Given the description of an element on the screen output the (x, y) to click on. 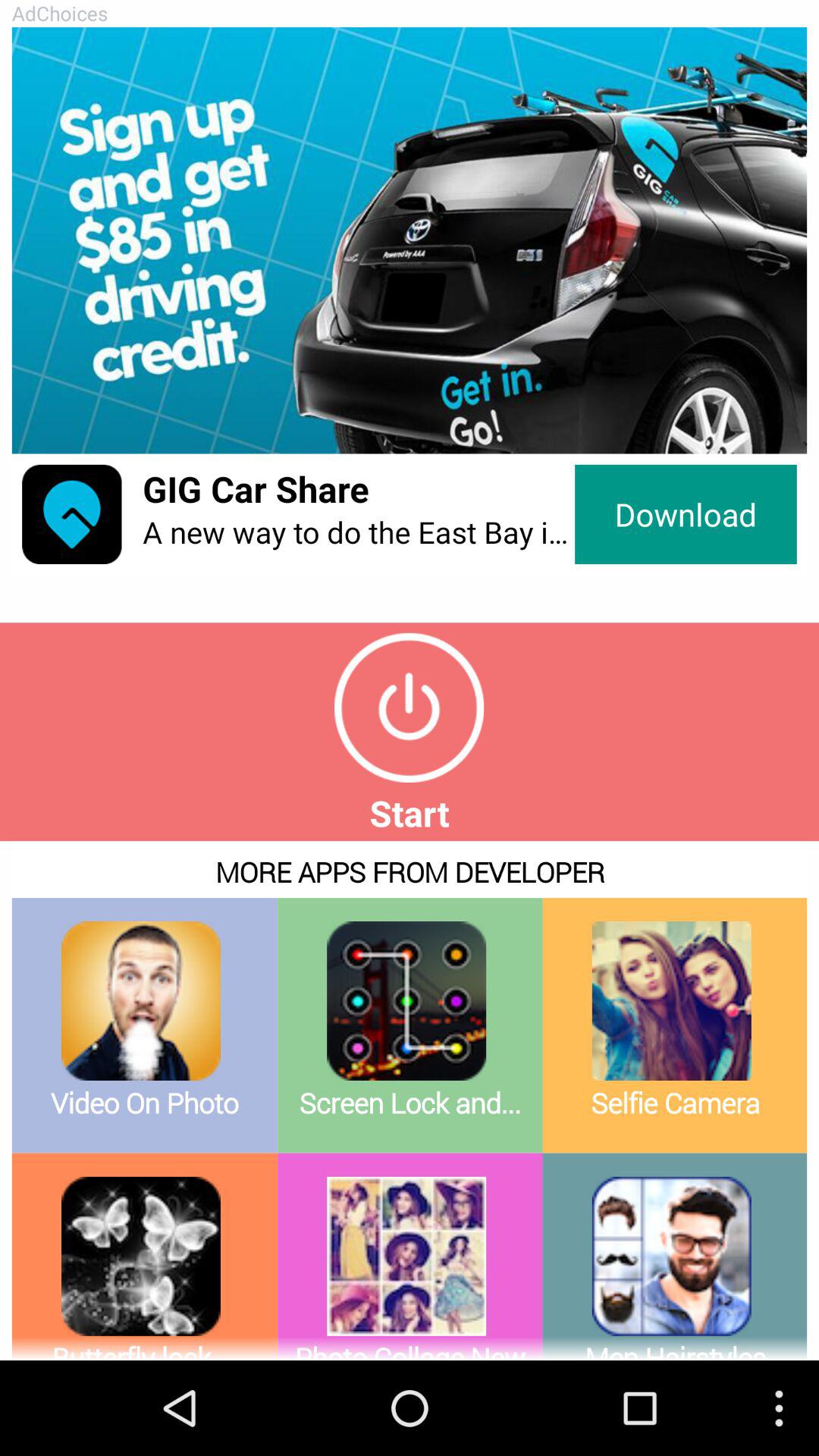
switch off (409, 707)
